Given the description of an element on the screen output the (x, y) to click on. 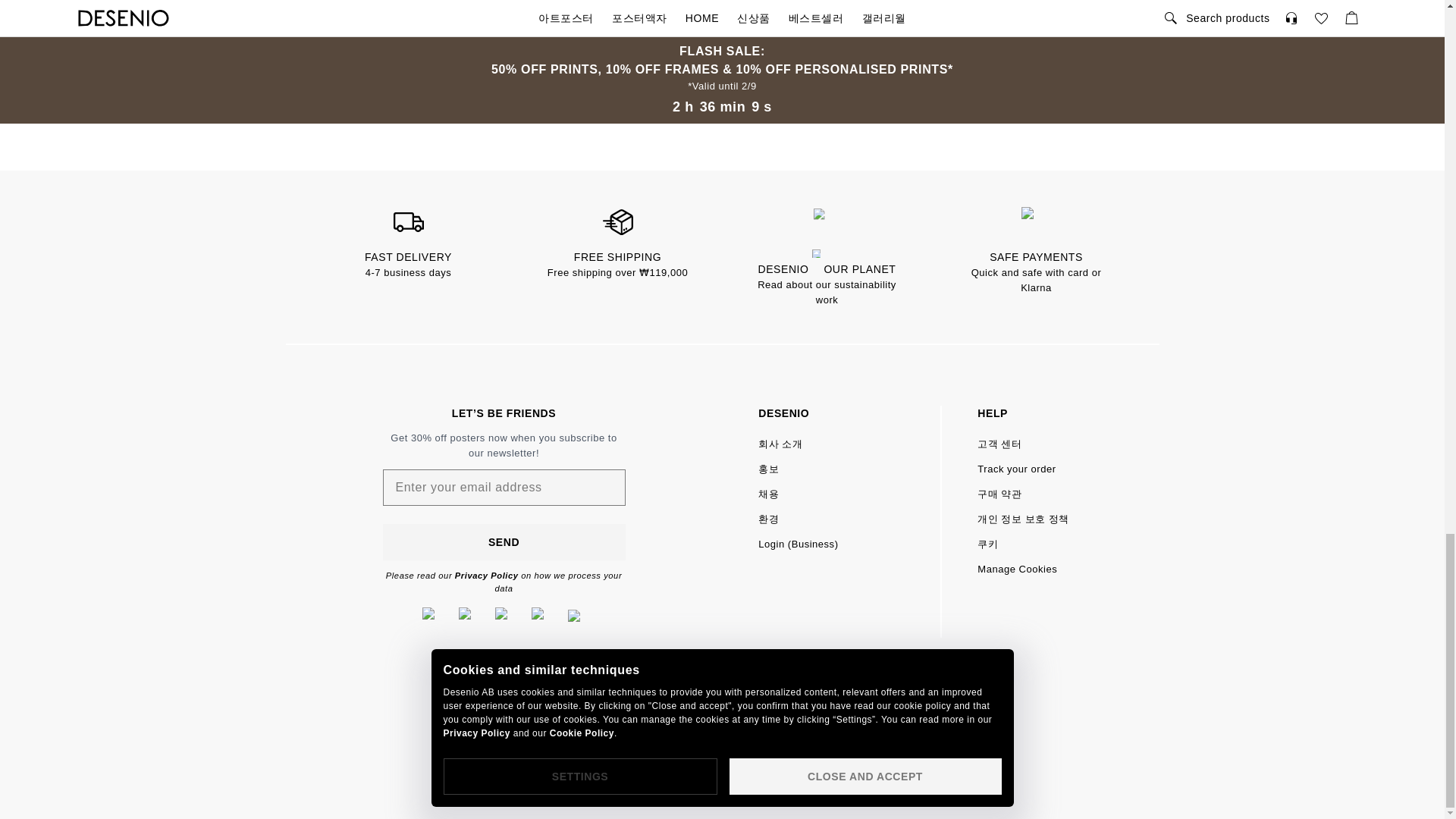
PayPal (749, 737)
Google Pay (804, 737)
Visa (639, 737)
DHL (585, 737)
Mastercard (694, 737)
American Express (858, 737)
